Given the description of an element on the screen output the (x, y) to click on. 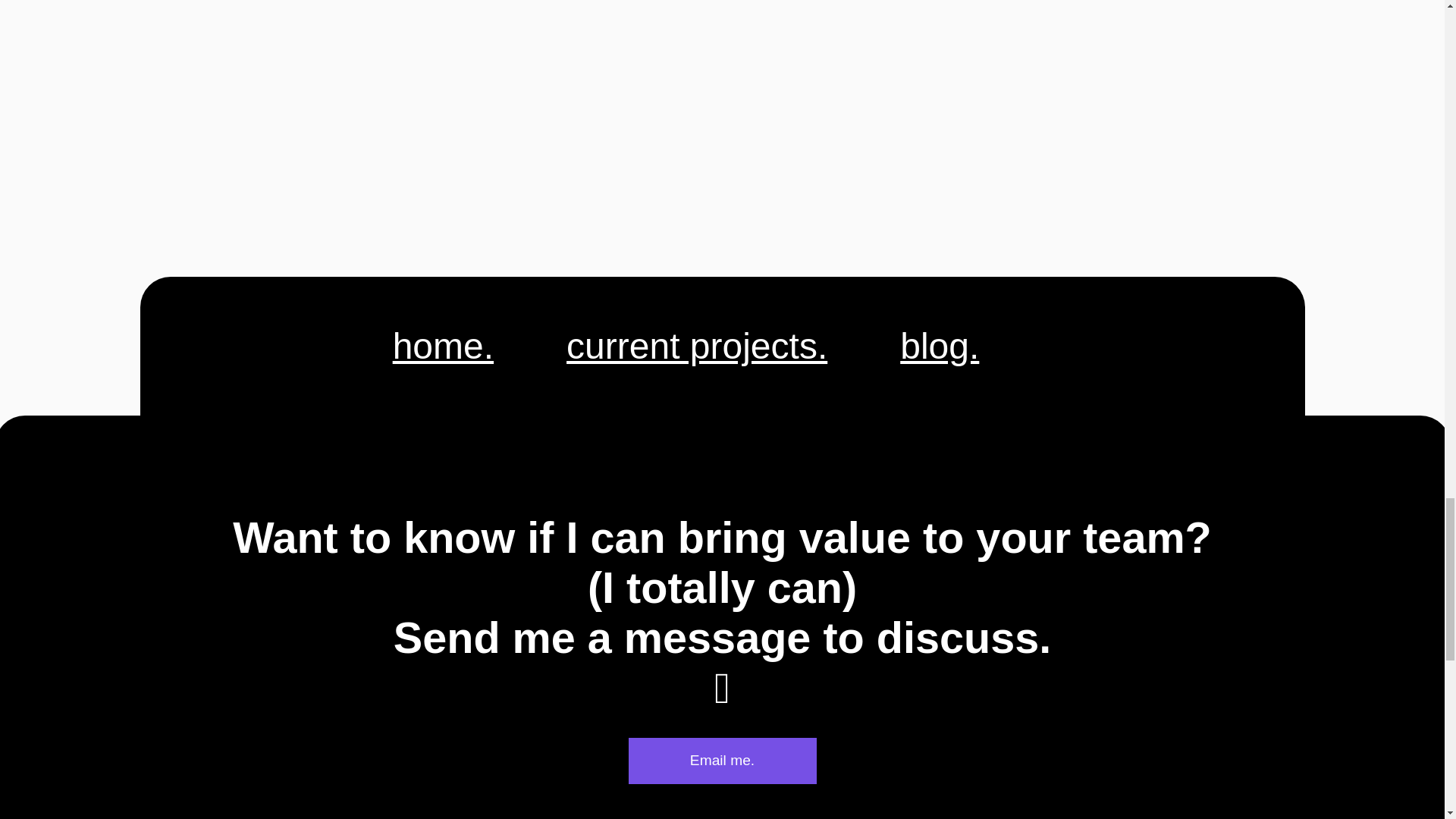
current projects. (696, 345)
home. (443, 345)
blog. (938, 345)
Email me. (721, 760)
